Given the description of an element on the screen output the (x, y) to click on. 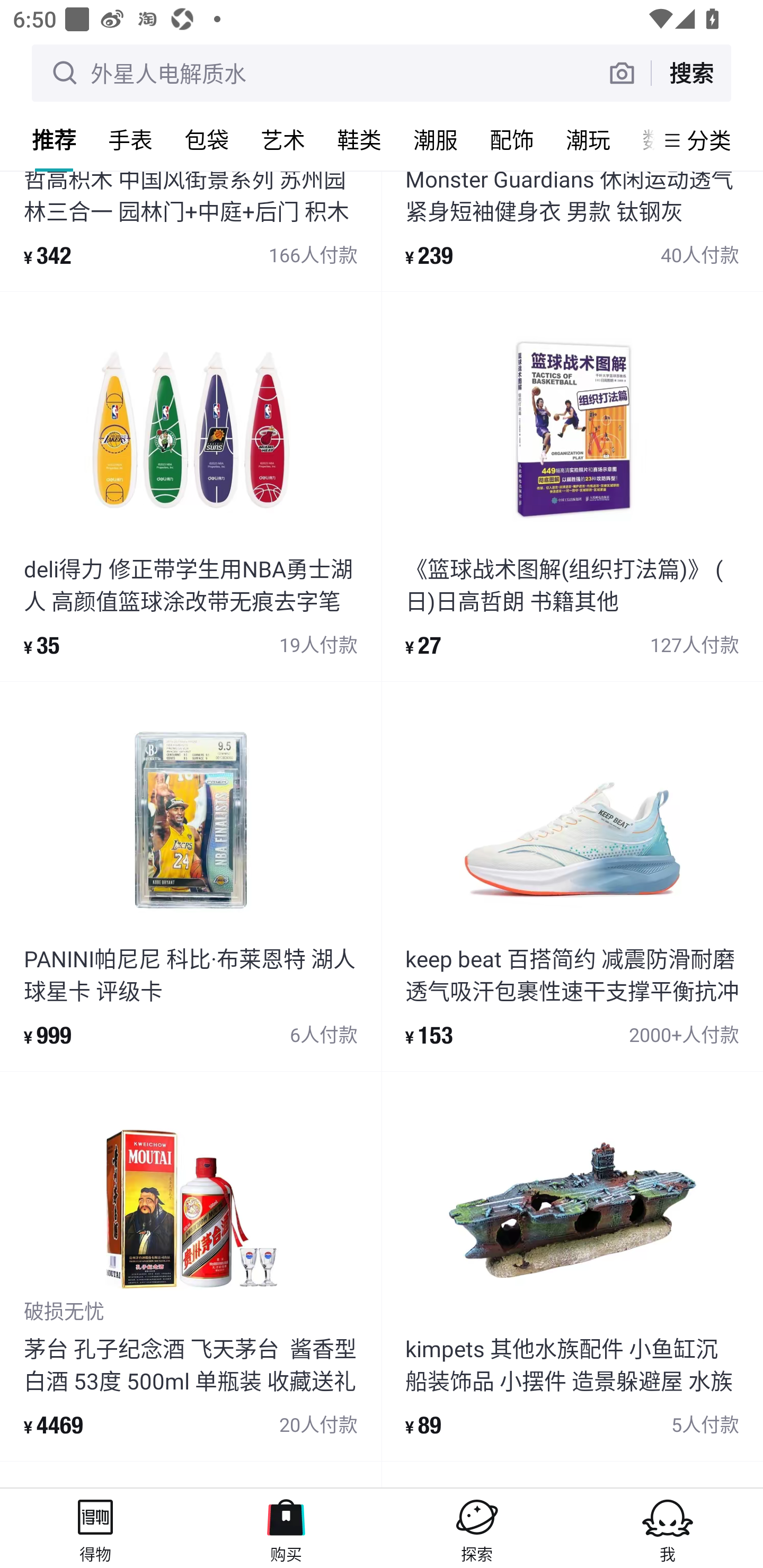
搜索 (690, 72)
推荐 (54, 139)
手表 (130, 139)
包袋 (206, 139)
艺术 (282, 139)
鞋类 (359, 139)
潮服 (435, 139)
配饰 (511, 139)
潮玩 (588, 139)
分类 (708, 139)
得物 (95, 1528)
购买 (285, 1528)
探索 (476, 1528)
我 (667, 1528)
